Given the description of an element on the screen output the (x, y) to click on. 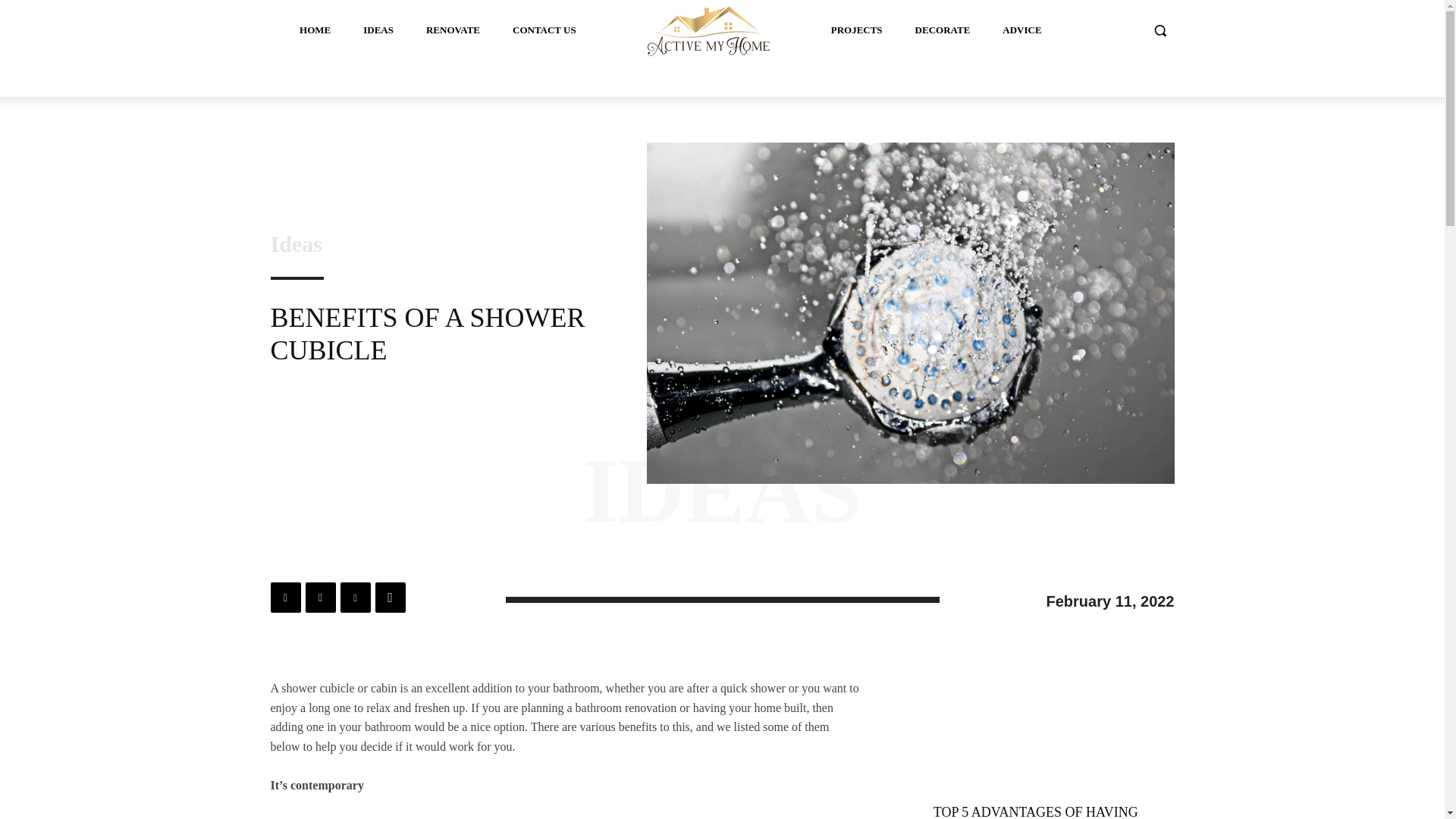
RENOVATE (452, 30)
